Given the description of an element on the screen output the (x, y) to click on. 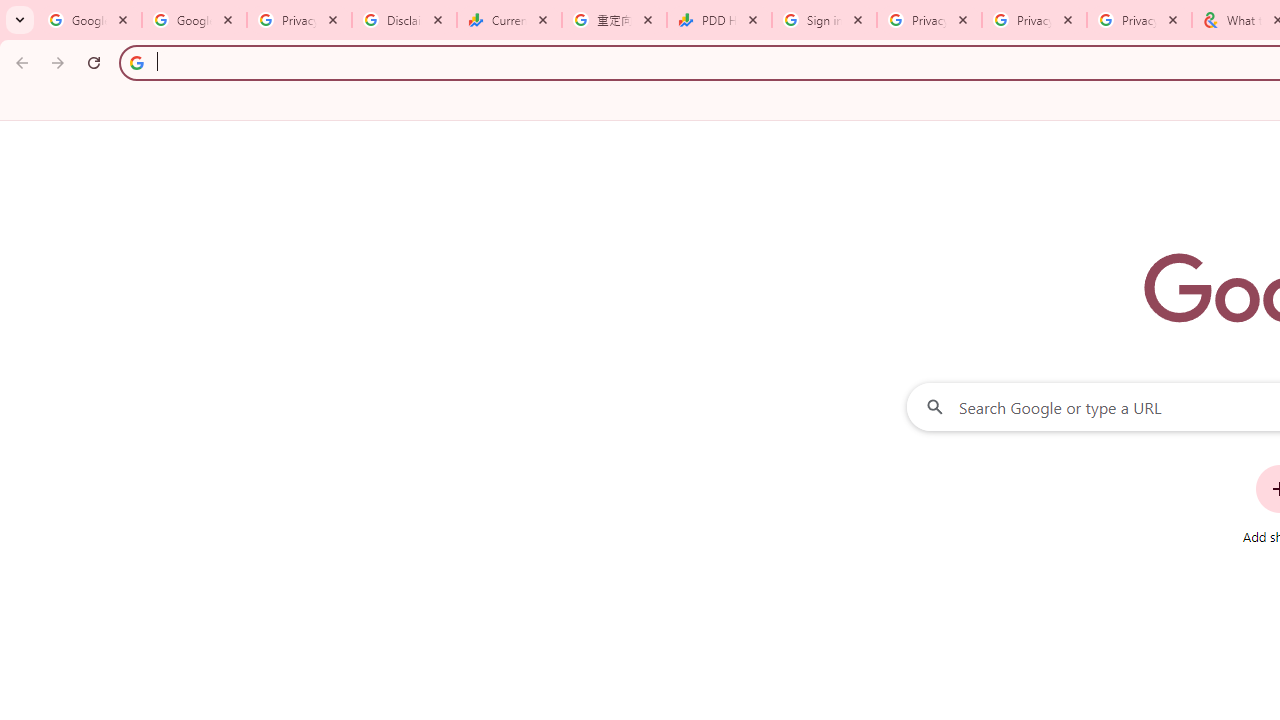
Privacy Checkup (1138, 20)
